Given the description of an element on the screen output the (x, y) to click on. 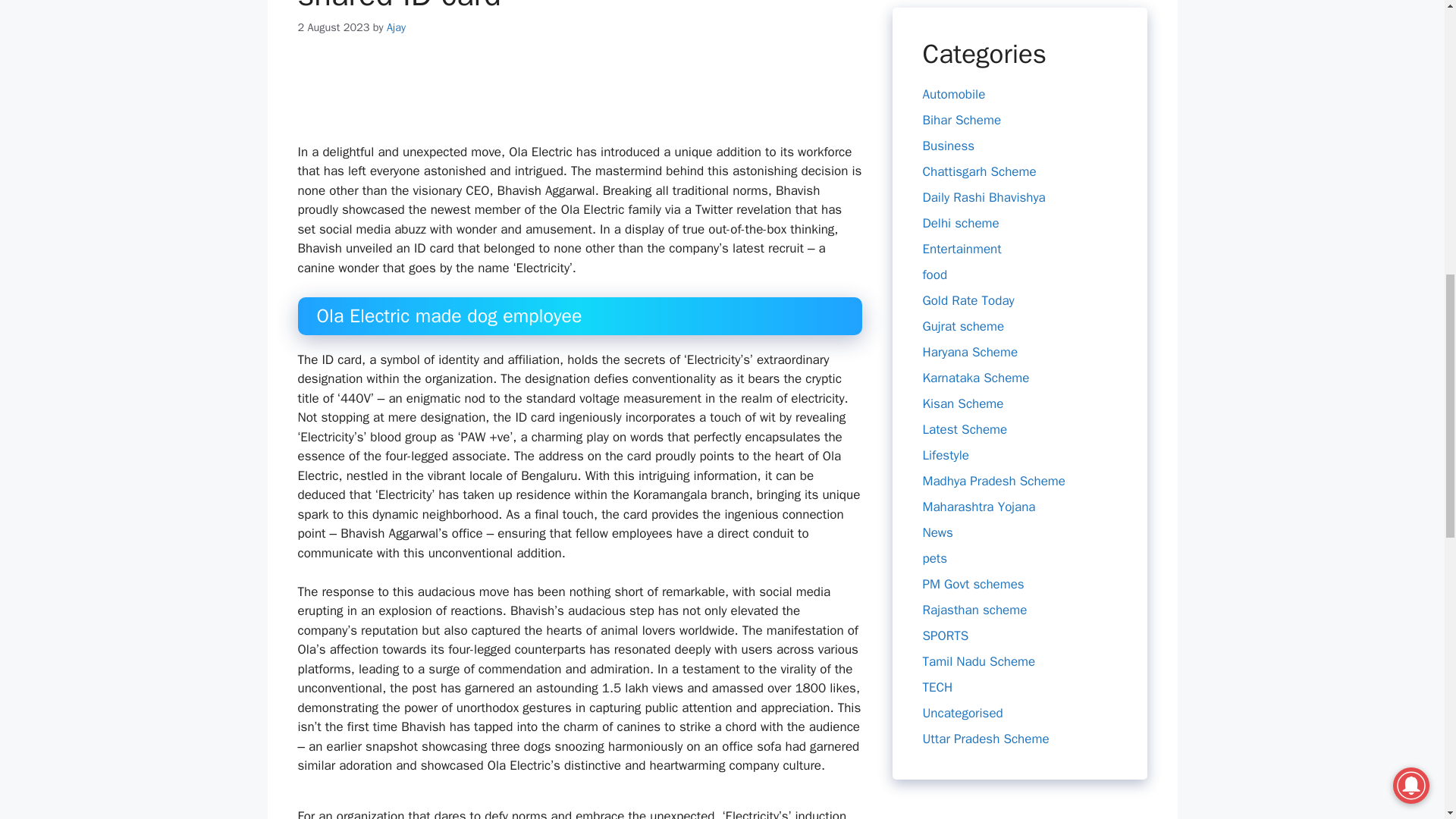
food (934, 150)
Gold Rate Today (967, 176)
Bihar Scheme (961, 2)
Chattisgarh Scheme (978, 47)
Gujrat scheme (962, 201)
Karnataka Scheme (975, 253)
Kisan Scheme (962, 279)
Ajay (396, 27)
View all posts by Ajay (396, 27)
Entertainment (961, 124)
